Given the description of an element on the screen output the (x, y) to click on. 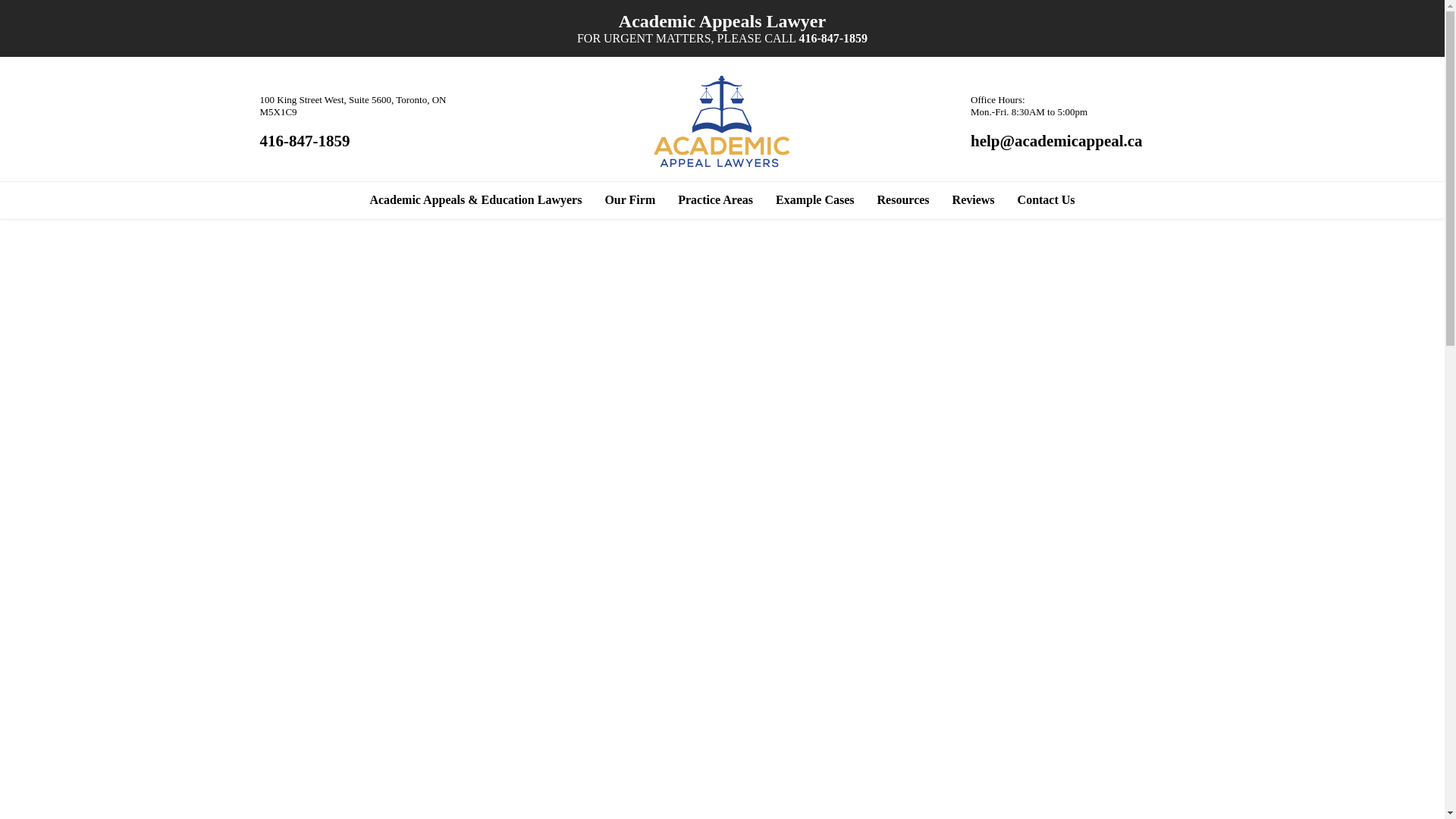
Our Firm Element type: text (629, 200)
Practice Areas Element type: text (715, 200)
416-847-1859 Element type: text (832, 37)
Resources Element type: text (903, 200)
help@academicappeal.ca Element type: text (1056, 140)
Contact Us Element type: text (1046, 200)
Example Cases Element type: text (815, 200)
Reviews Element type: text (973, 200)
Academic Appeals & Education Lawyers Element type: text (475, 200)
